Given the description of an element on the screen output the (x, y) to click on. 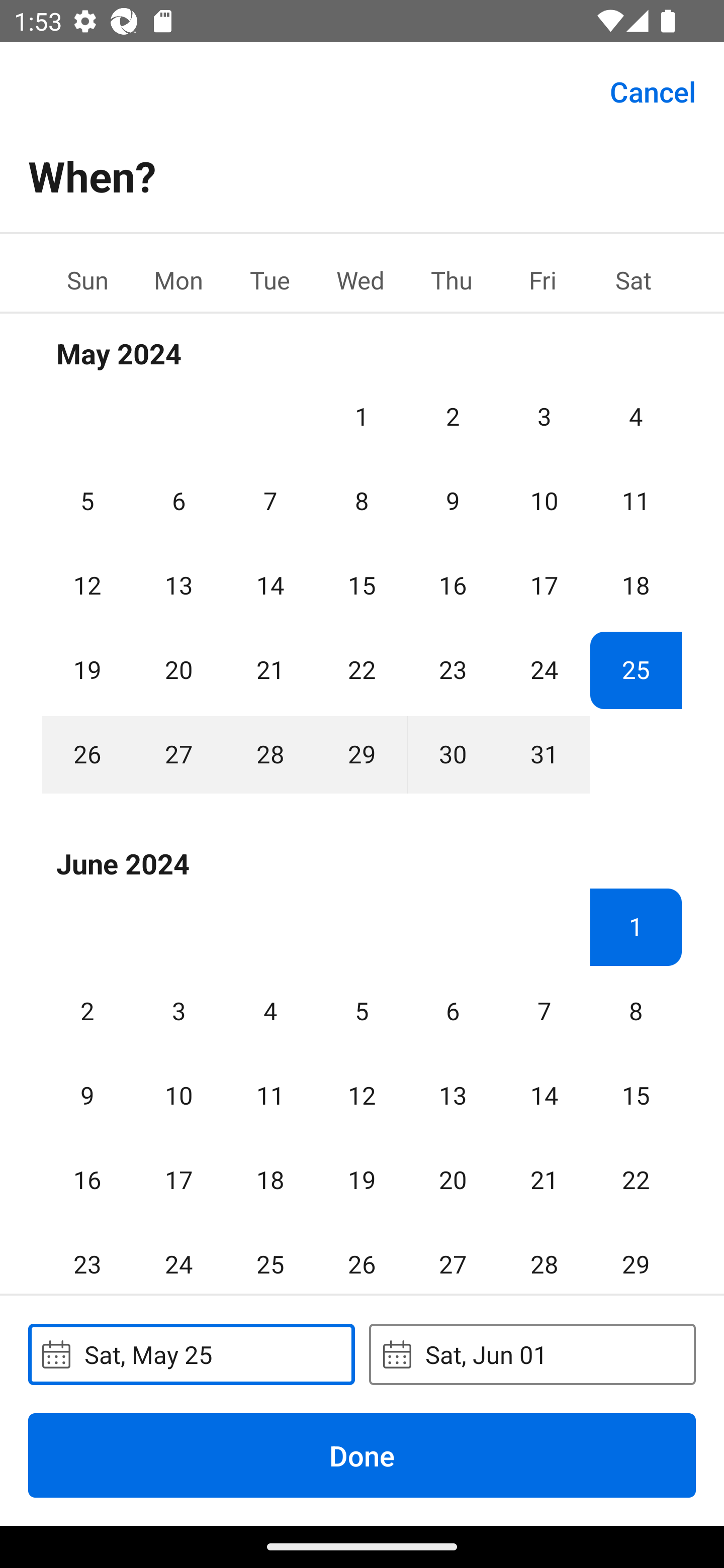
Cancel (652, 90)
Sat, May 25 (191, 1353)
Sat, Jun 01 (532, 1353)
Done (361, 1454)
